Given the description of an element on the screen output the (x, y) to click on. 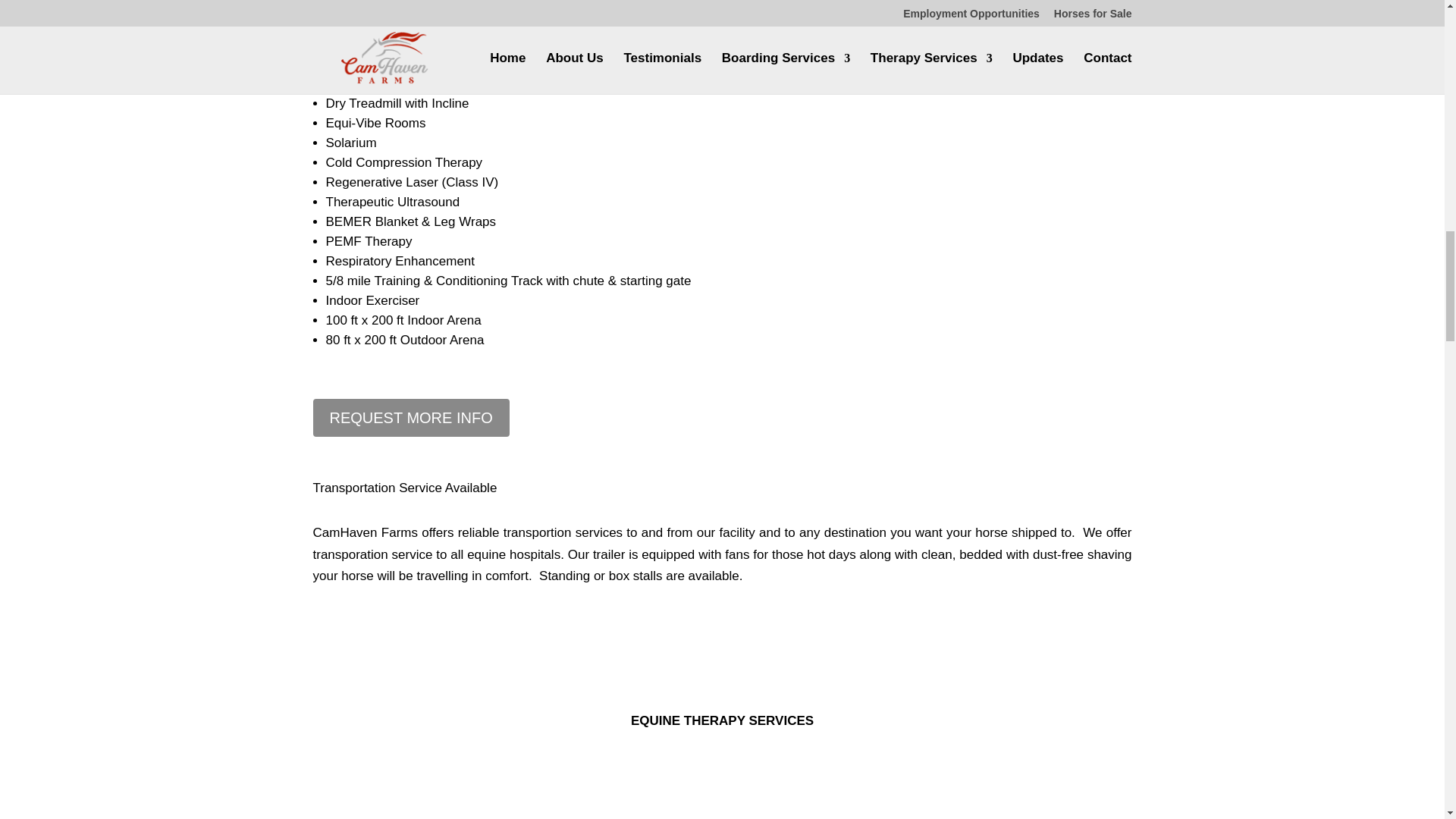
REQUEST MORE INFO (410, 417)
